Given the description of an element on the screen output the (x, y) to click on. 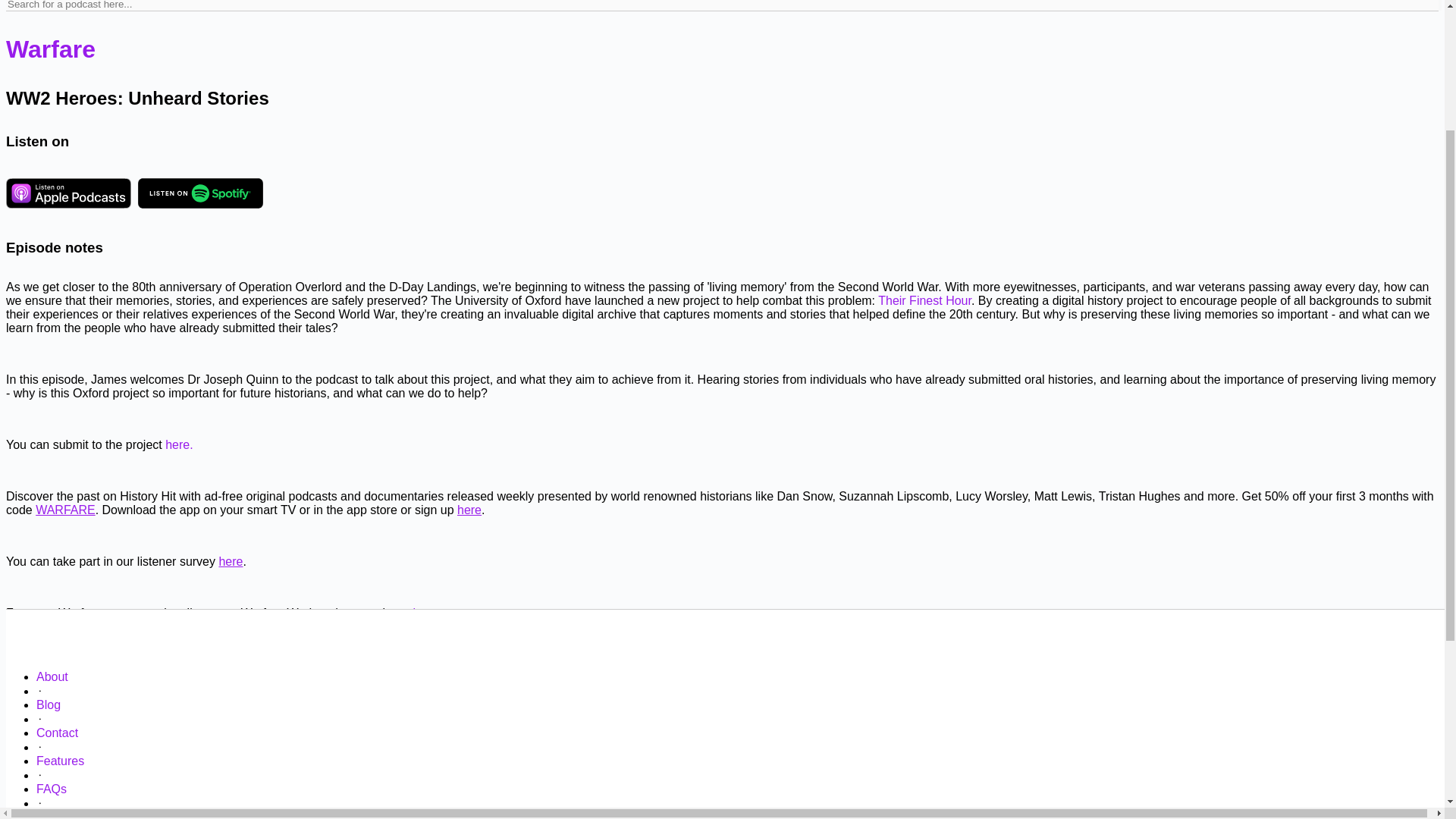
WARFARE (65, 509)
here (469, 509)
here (230, 561)
Their Finest Hour (924, 300)
FAQs (51, 788)
here. (427, 612)
Blog (48, 704)
Warfare (50, 49)
Login with Facebook (67, 801)
Login with Twitter (179, 801)
